Given the description of an element on the screen output the (x, y) to click on. 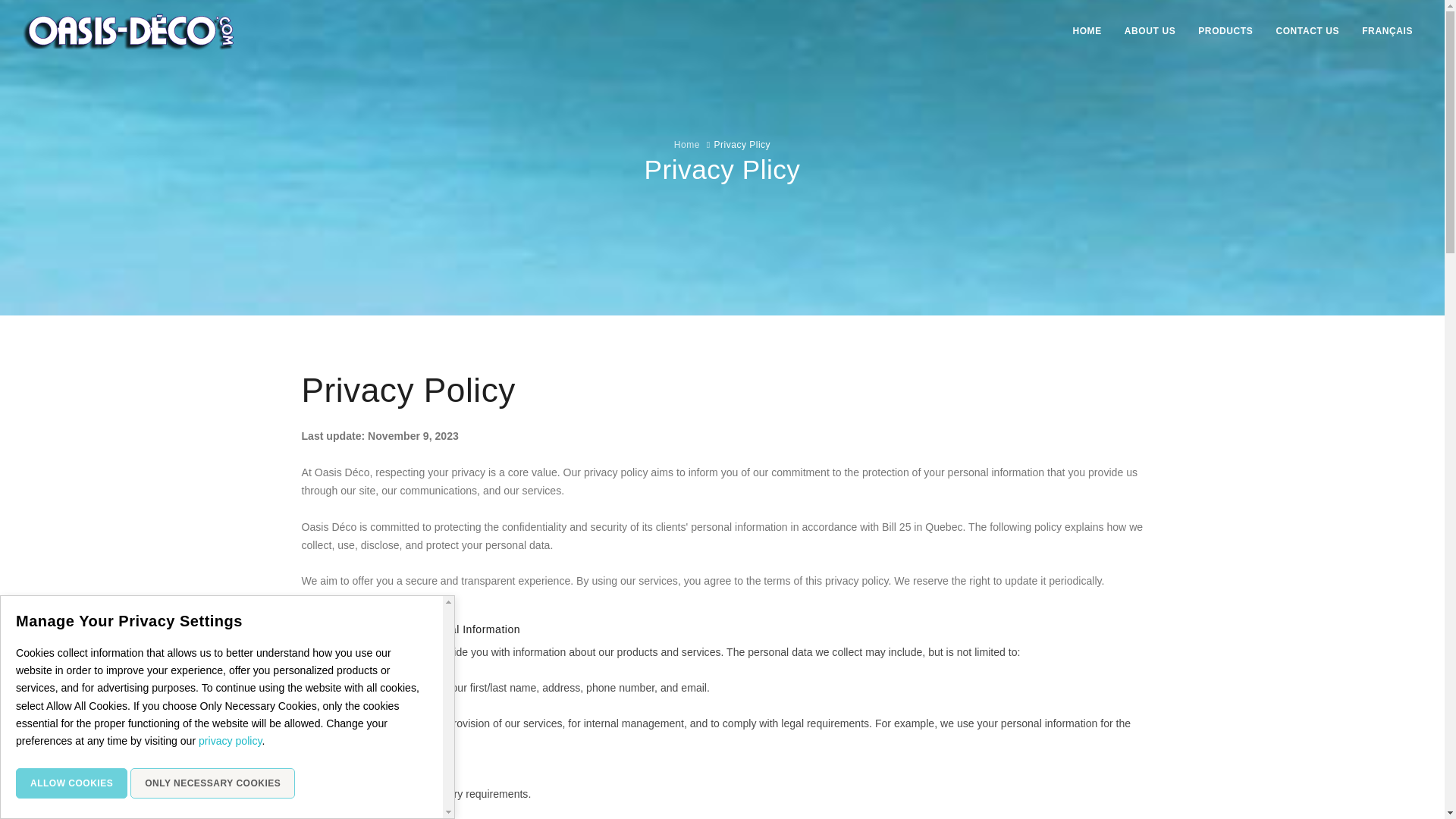
ABOUT US (1150, 31)
HOME (1085, 31)
Home (687, 144)
ALLOW COOKIES (72, 783)
CONTACT US (1307, 31)
ONLY NECESSARY COOKIES (213, 783)
PRODUCTS (1225, 31)
privacy policy (230, 740)
Privacy Plicy (742, 144)
